Given the description of an element on the screen output the (x, y) to click on. 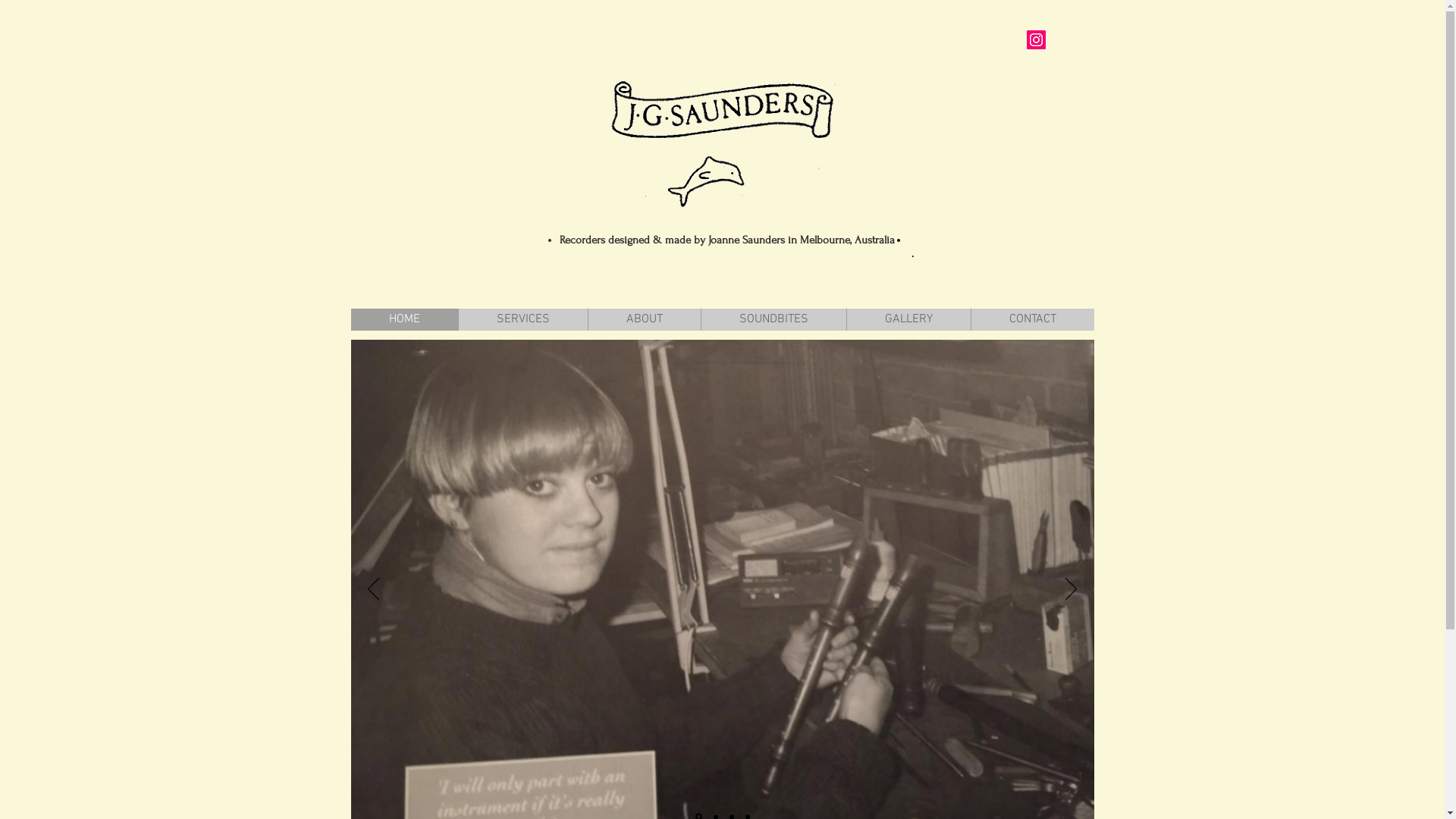
Screen shot 2018-04-15 at 11.31.14 AM.pn Element type: hover (722, 142)
CONTACT Element type: text (1032, 319)
ABOUT Element type: text (642, 319)
SERVICES Element type: text (522, 319)
HOME Element type: text (403, 319)
SOUNDBITES Element type: text (773, 319)
GALLERY Element type: text (908, 319)
